Given the description of an element on the screen output the (x, y) to click on. 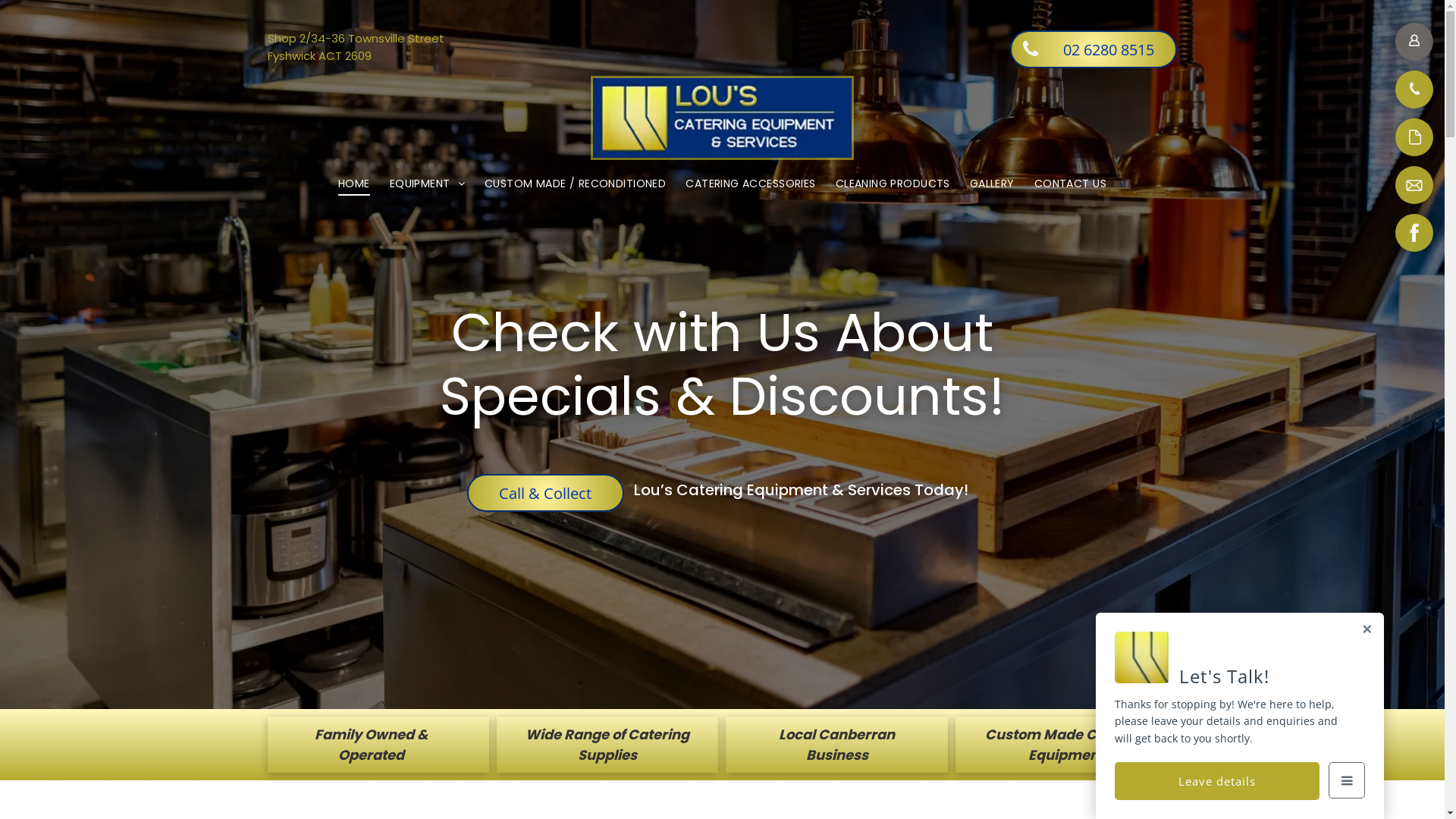
EQUIPMENT Element type: text (426, 183)
CONTACT US Element type: text (1070, 183)
Fyshwick ACT 2609 Element type: text (318, 54)
CUSTOM MADE / RECONDITIONED Element type: text (574, 183)
Leave details Element type: text (1216, 781)
Call & Collect Element type: text (545, 492)
02 6280 8515 Element type: text (1093, 49)
CLEANING PRODUCTS Element type: text (892, 183)
Shop 2/34-36 Townsville Street Element type: text (354, 38)
GALLERY Element type: text (992, 183)
HOME Element type: text (353, 183)
CATERING ACCESSORIES Element type: text (750, 183)
